Given the description of an element on the screen output the (x, y) to click on. 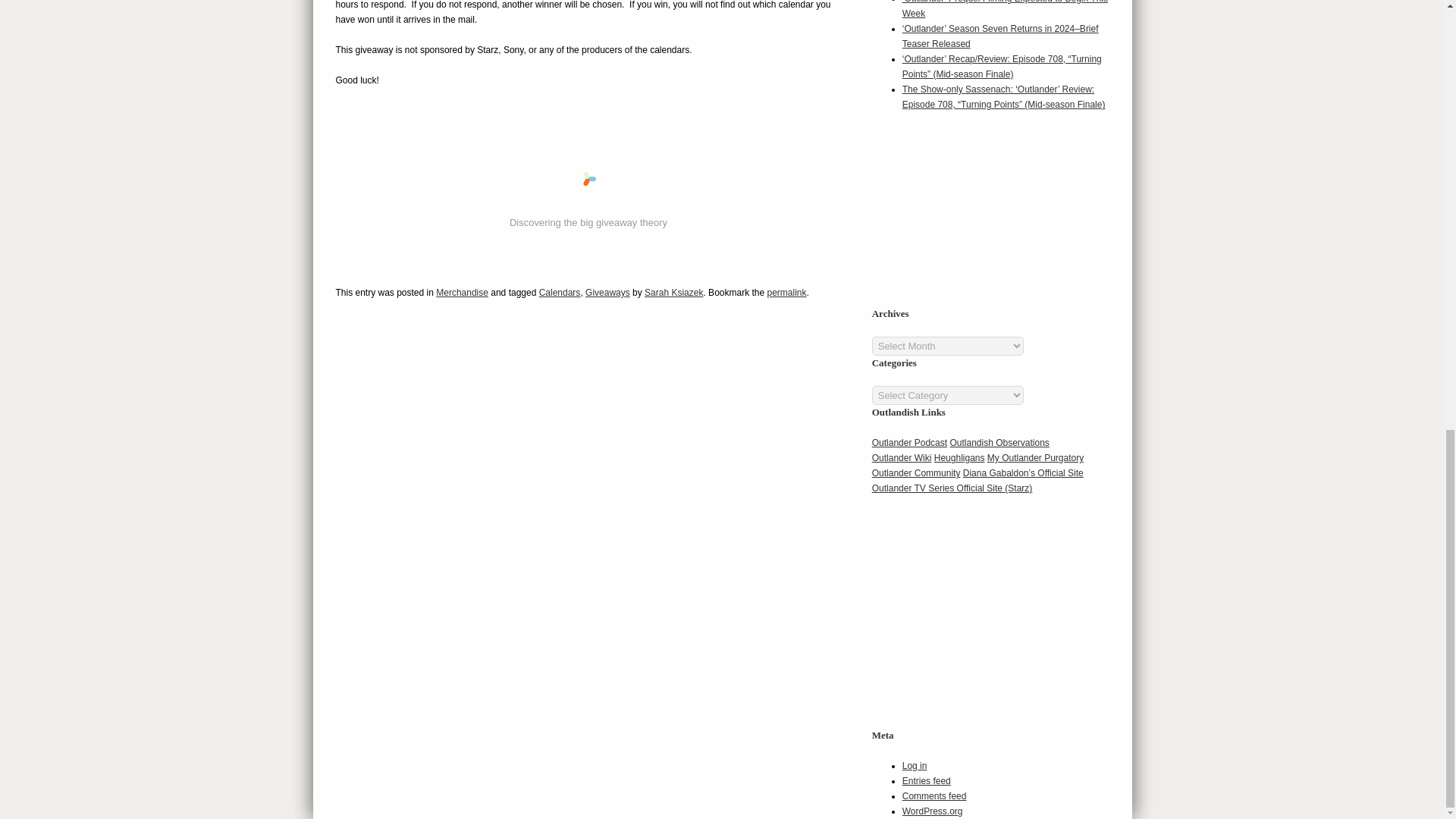
Heughligans (959, 457)
Calendars (559, 292)
Outlander Wiki (901, 457)
Log in (914, 765)
My Outlander Purgatory (1035, 457)
Giveaways (607, 292)
WordPress.org (932, 810)
permalink (786, 292)
Entries feed (926, 780)
Merchandise (461, 292)
Comments feed (934, 796)
Sarah Ksiazek (674, 292)
Outlander Podcast (909, 442)
Outlandish Observations (998, 442)
Outlander Community (916, 472)
